Given the description of an element on the screen output the (x, y) to click on. 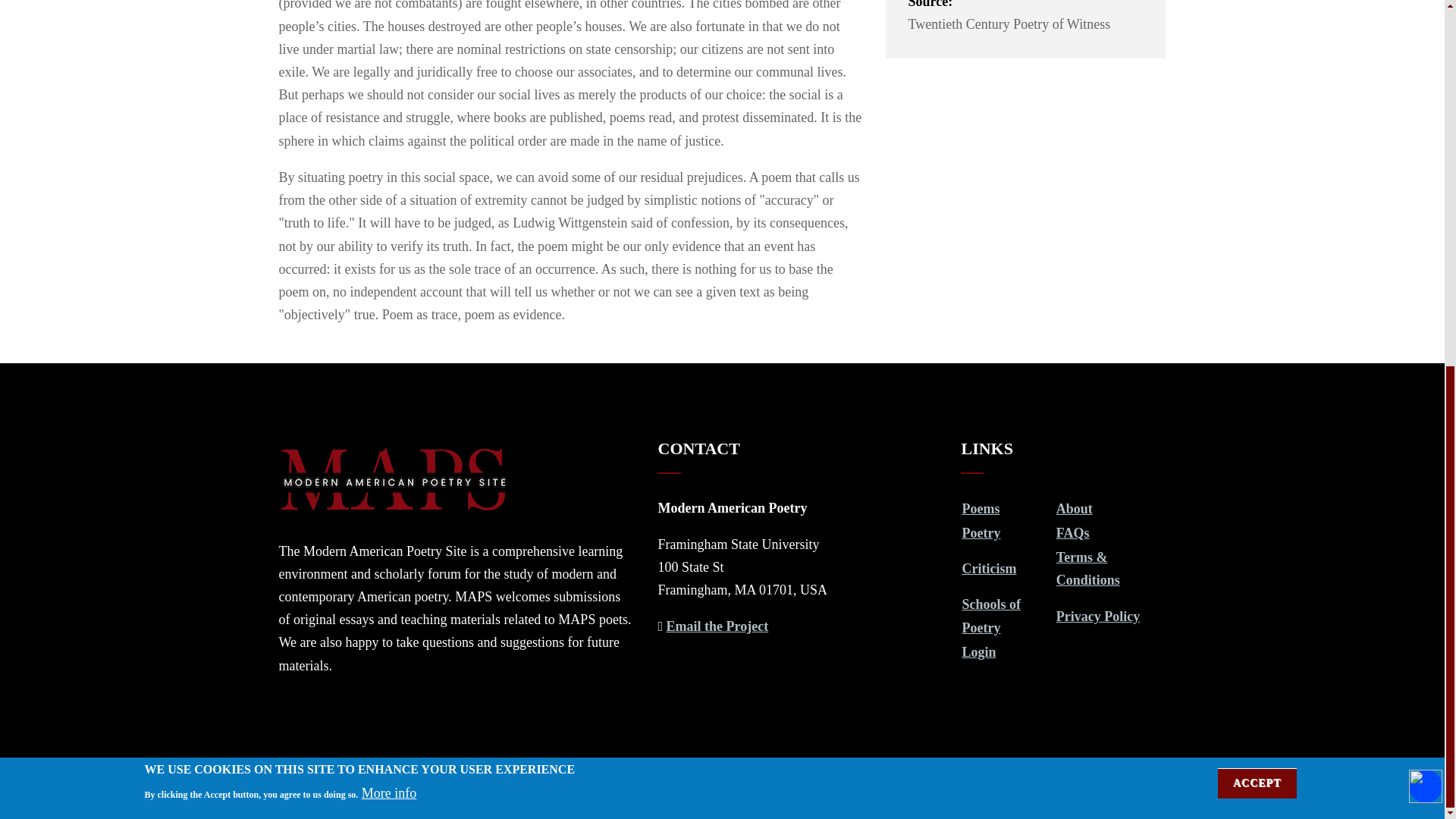
Criticism (988, 568)
Schools of Poetry (990, 615)
Login (977, 652)
About (1075, 508)
Poems (979, 508)
More info (388, 133)
ACCEPT (1257, 123)
Email the Project (717, 626)
FAQs (1073, 532)
Privacy Policy (1098, 616)
Poetry (980, 532)
Accessibility Menu (1425, 127)
